Given the description of an element on the screen output the (x, y) to click on. 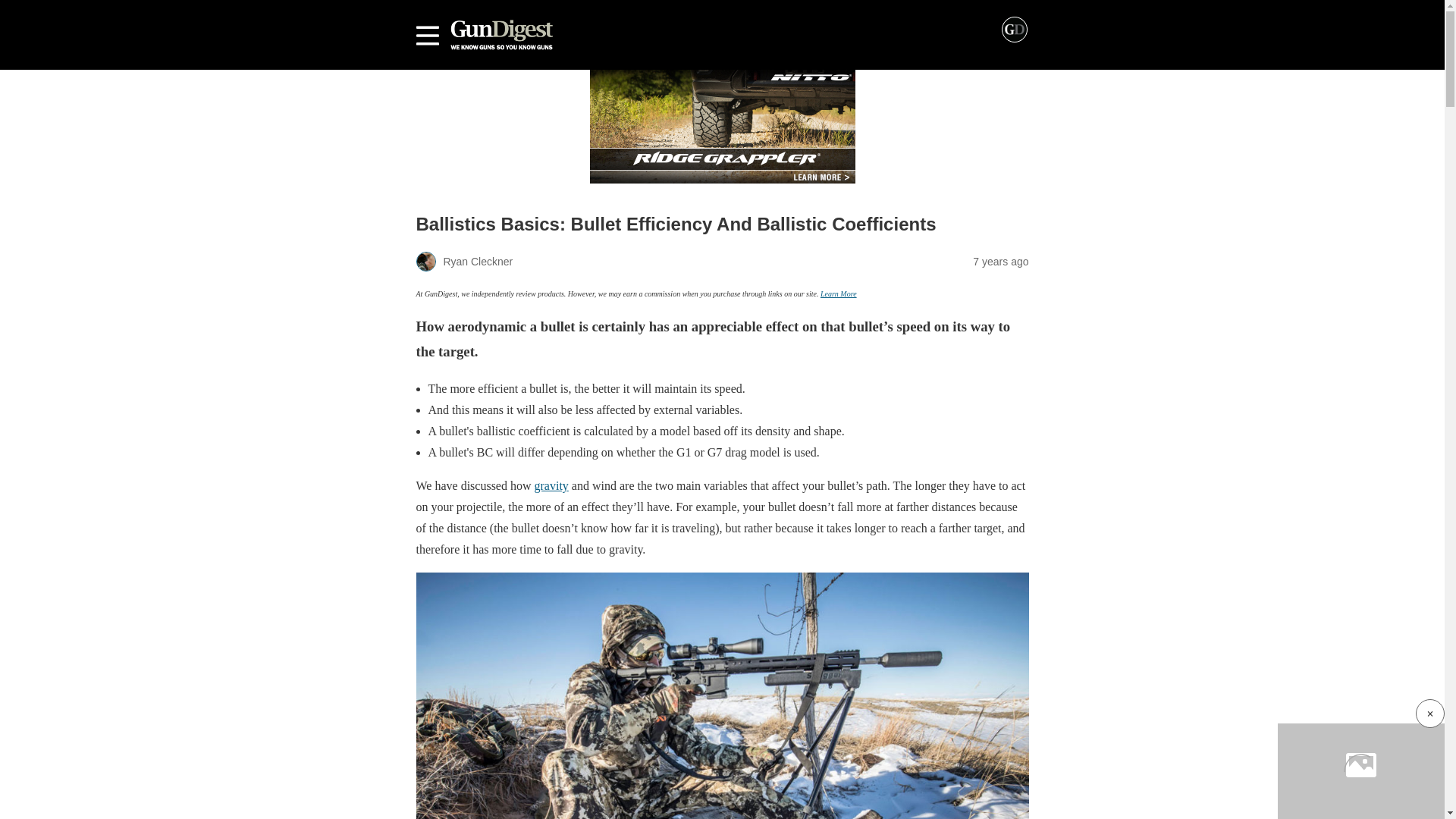
gravity (551, 485)
Learn More (839, 293)
3rd party ad content (722, 126)
